Given the description of an element on the screen output the (x, y) to click on. 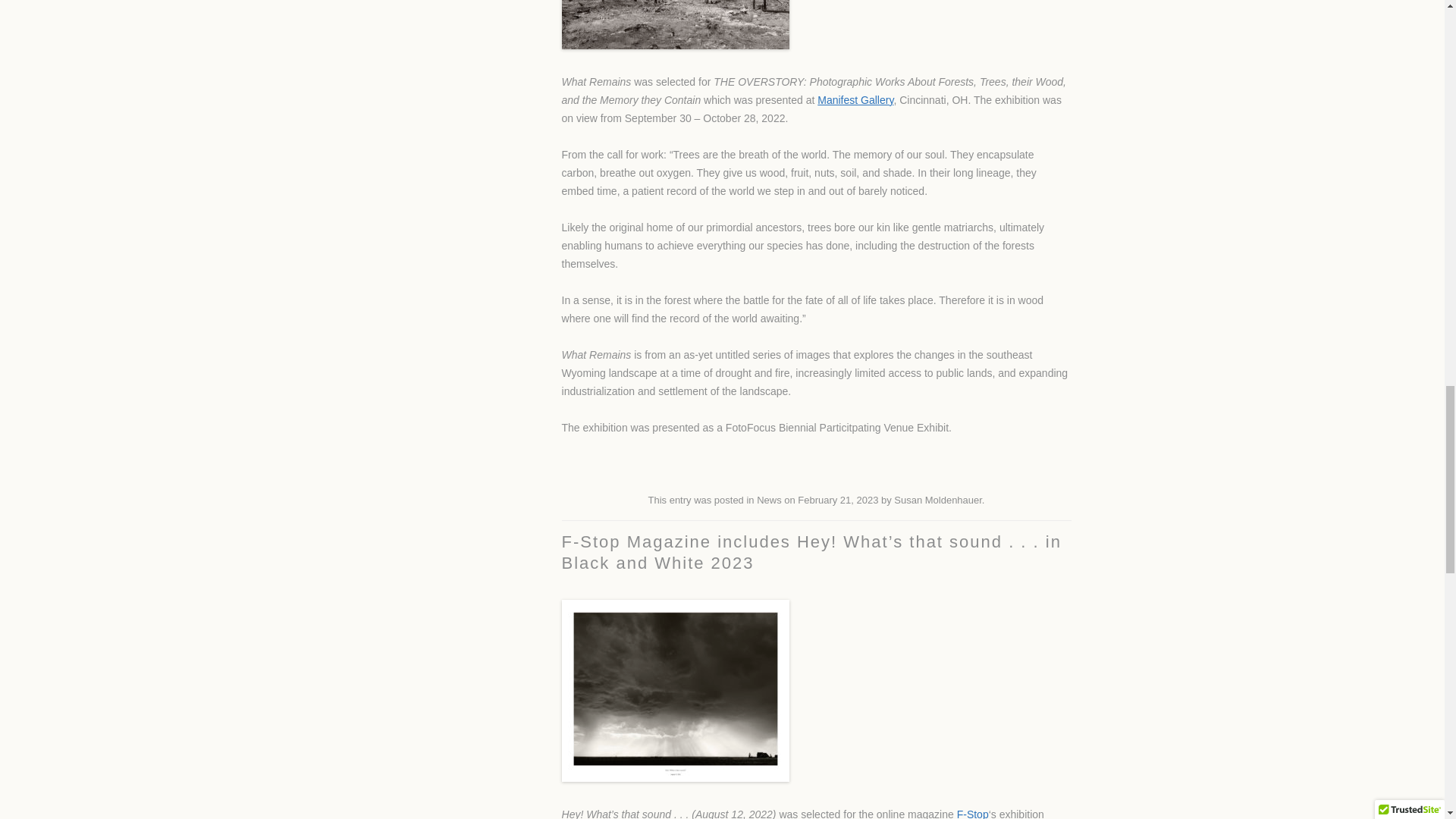
Manifest Gallery (854, 100)
View all posts by Susan Moldenhauer (937, 500)
1:17 pm (837, 500)
